Given the description of an element on the screen output the (x, y) to click on. 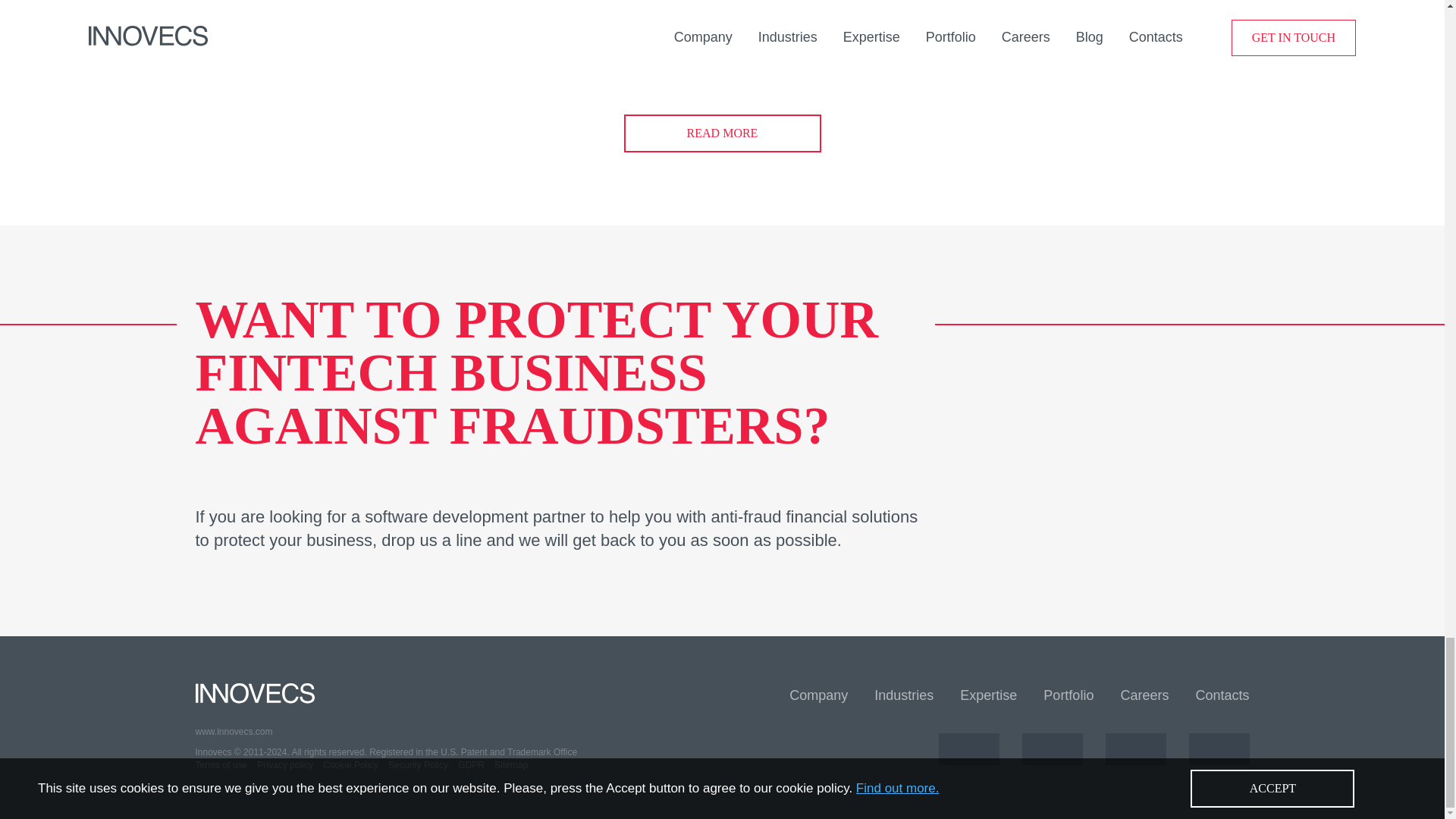
READ MORE (722, 133)
Portfolio (1068, 695)
Careers (1144, 695)
Industries (904, 695)
Company (818, 695)
Expertise (987, 695)
www.innovecs.com (458, 731)
